Given the description of an element on the screen output the (x, y) to click on. 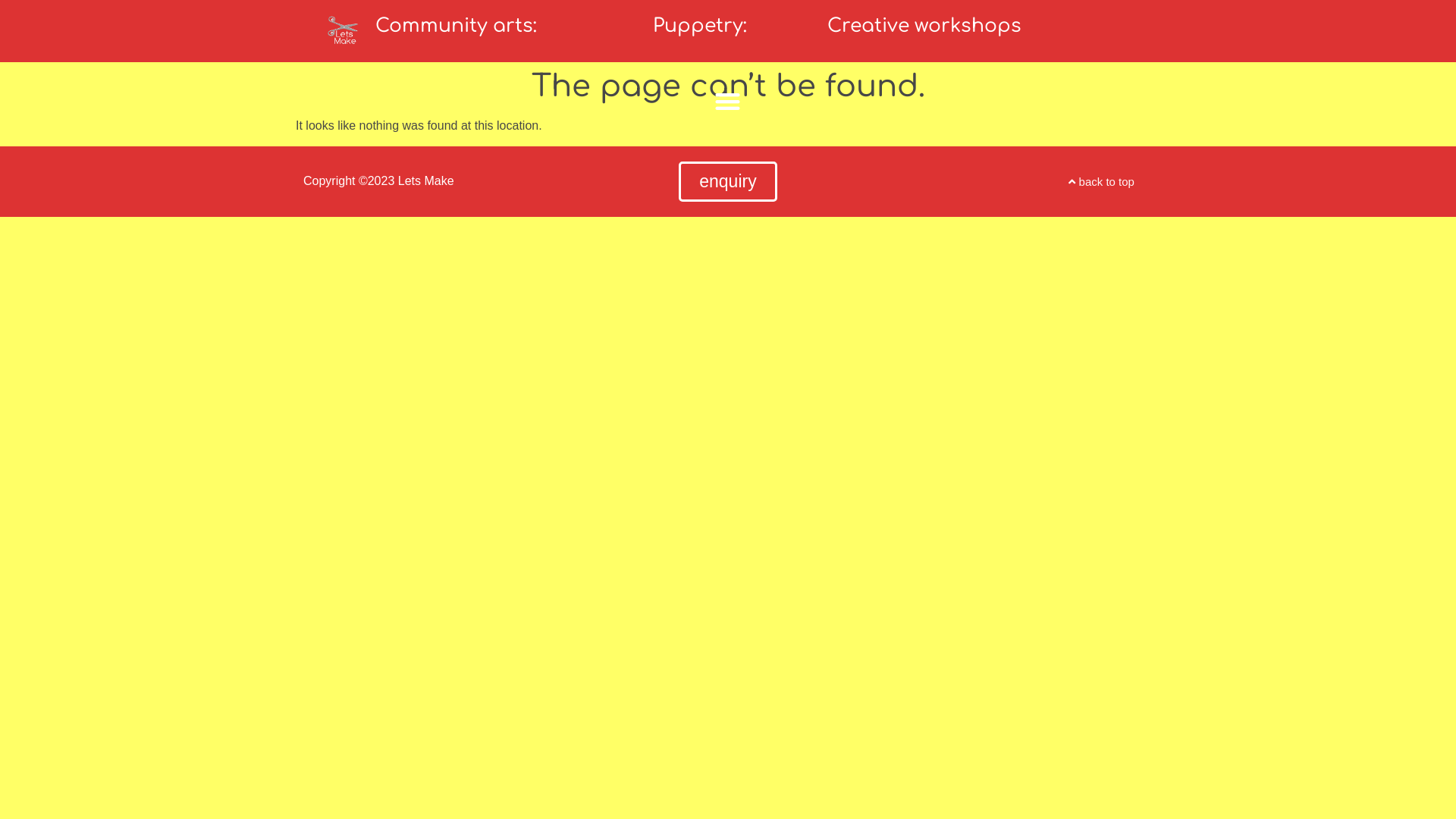
enquiry Element type: text (727, 181)
back to top Element type: text (1101, 181)
